Given the description of an element on the screen output the (x, y) to click on. 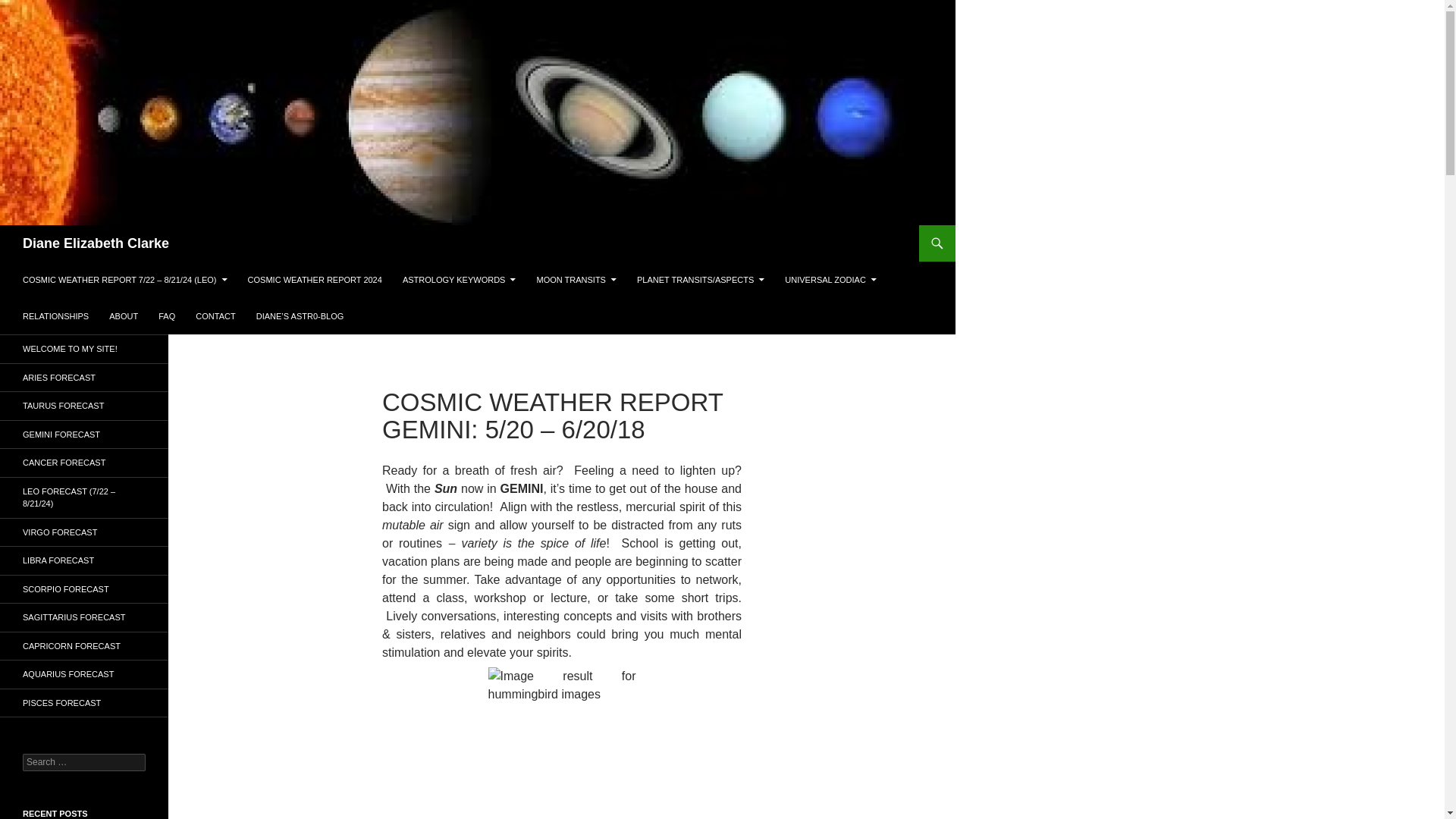
COSMIC WEATHER REPORT 2024 (314, 279)
SAGITTARIUS FORECAST (84, 617)
PISCES FORECAST (84, 702)
Diane Elizabeth Clarke (95, 243)
ABOUT (123, 316)
TAURUS FORECAST (84, 406)
ASTROLOGY KEYWORDS (459, 279)
FAQ (166, 316)
CONTACT (215, 316)
